Given the description of an element on the screen output the (x, y) to click on. 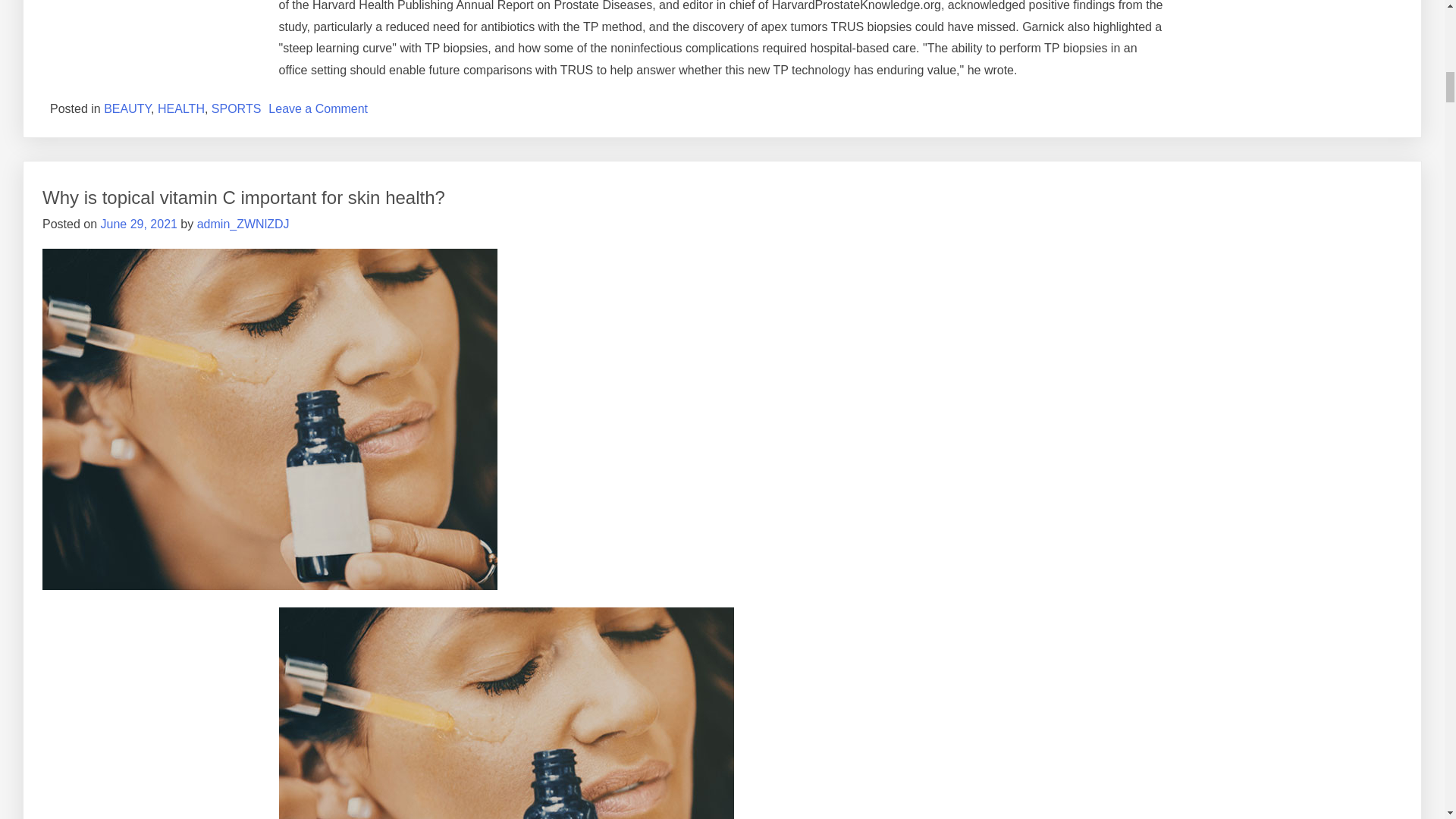
Why is topical vitamin C important for skin health? (243, 197)
HEALTH (181, 108)
BEAUTY (127, 108)
June 29, 2021 (138, 223)
SPORTS (236, 108)
